Given the description of an element on the screen output the (x, y) to click on. 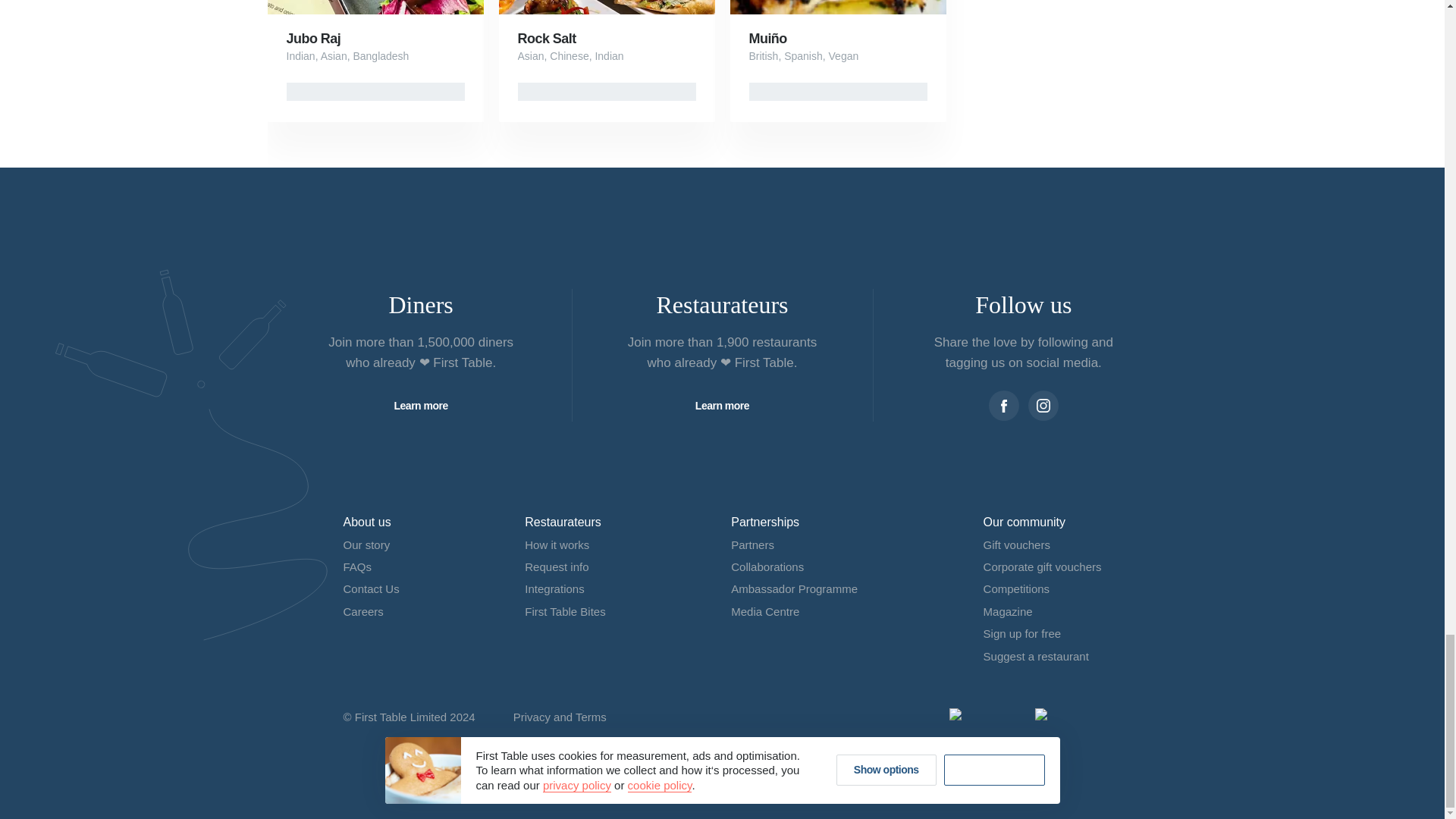
Our story (366, 544)
Jubo Raj (313, 38)
Request info (556, 566)
Learn more (421, 405)
Contact Us (370, 588)
FAQs (356, 566)
Careers (362, 611)
How it works (556, 544)
Learn more (721, 405)
Rock Salt (545, 38)
